Given the description of an element on the screen output the (x, y) to click on. 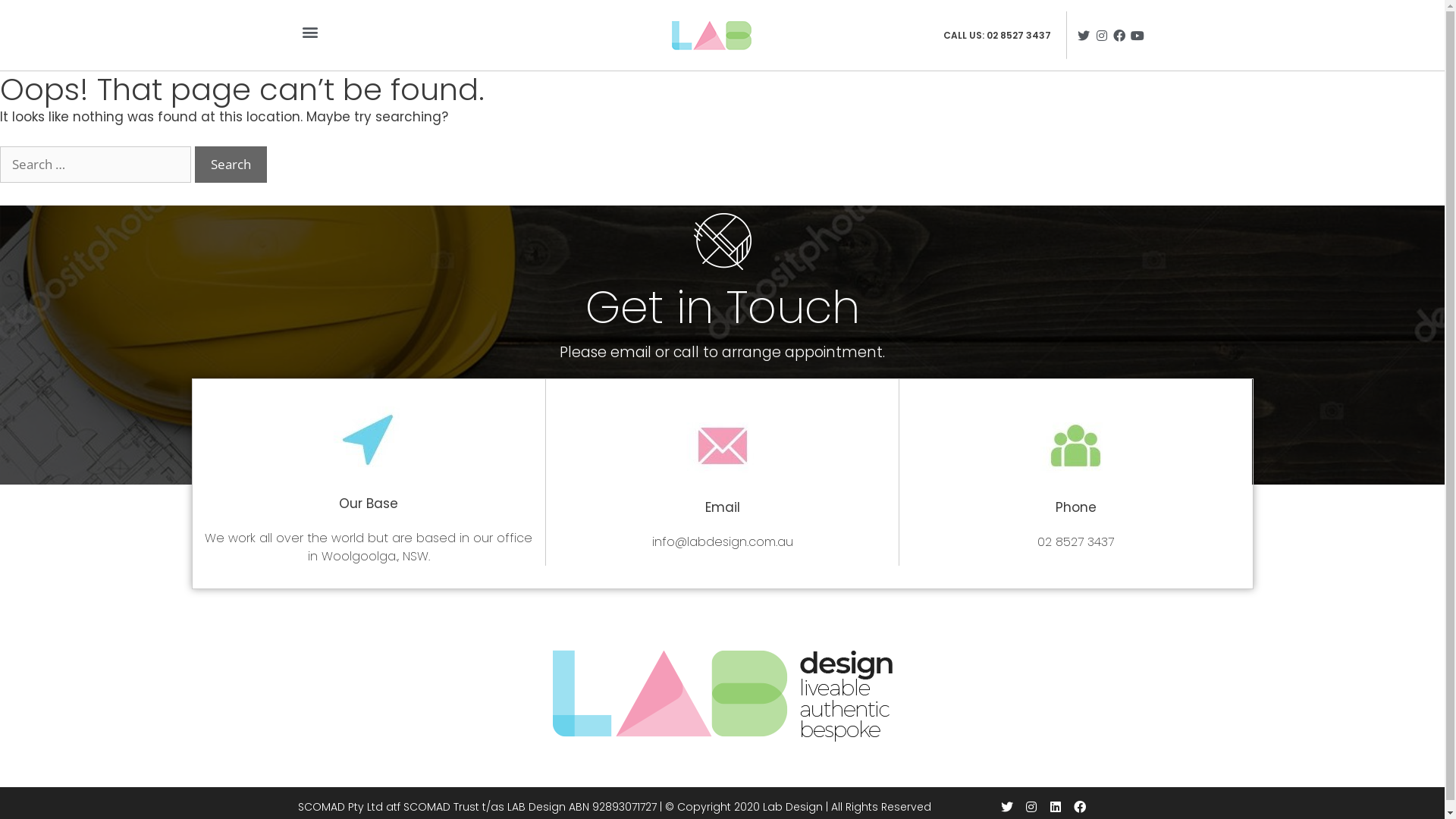
Search Element type: text (230, 164)
Phone Element type: text (1075, 507)
Search for: Element type: hover (95, 164)
